Given the description of an element on the screen output the (x, y) to click on. 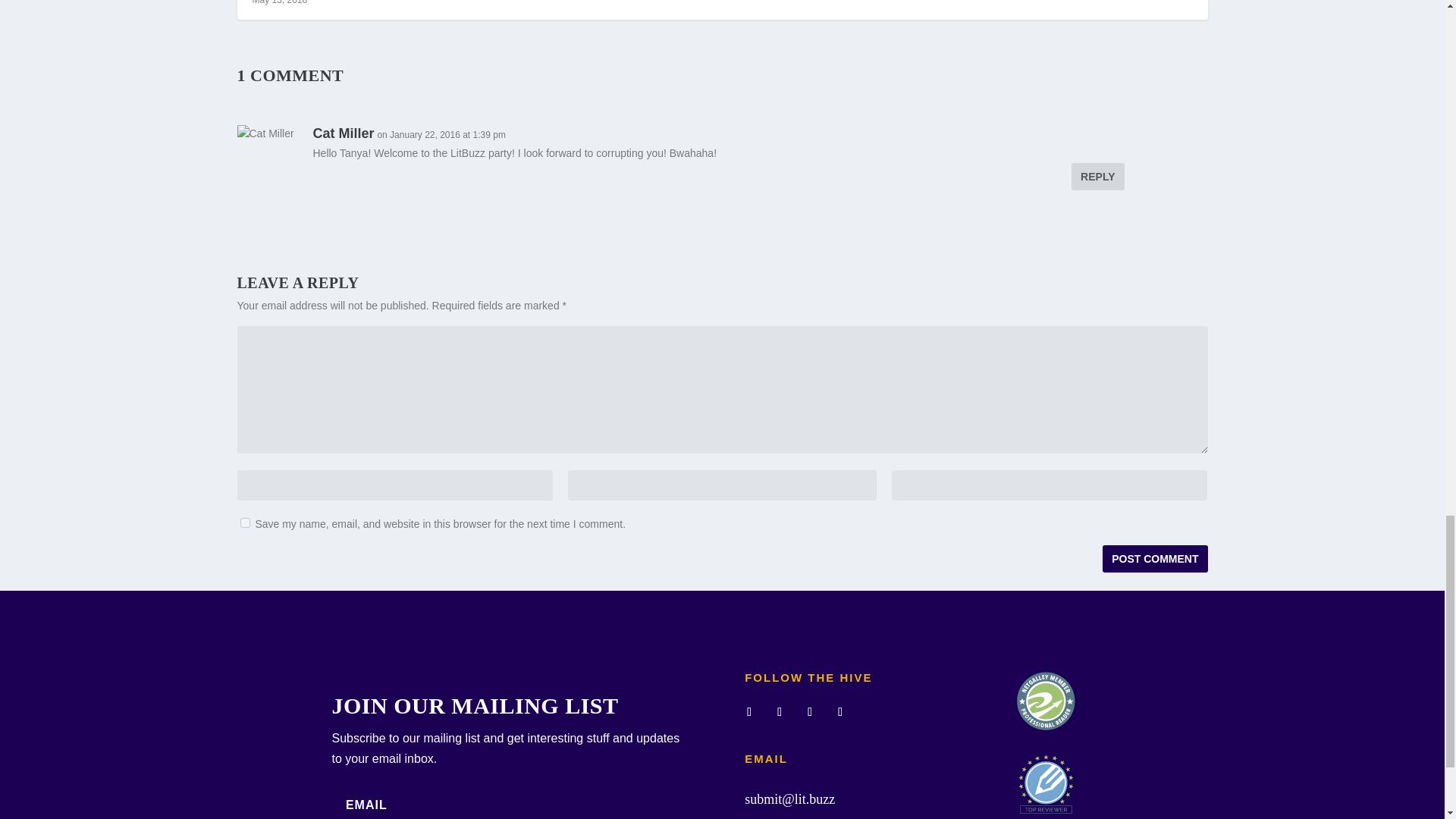
yes (244, 522)
Post Comment (1154, 558)
